Given the description of an element on the screen output the (x, y) to click on. 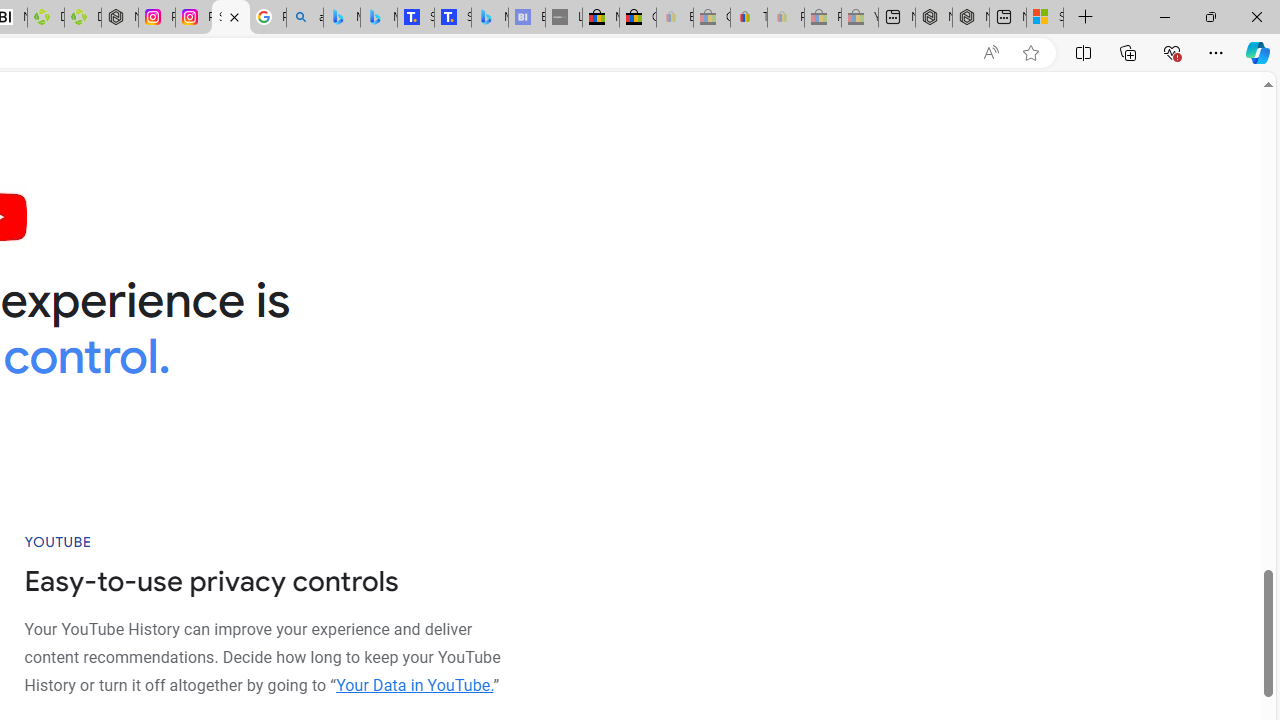
Press Room - eBay Inc. - Sleeping (822, 17)
Sign in to your Microsoft account (1044, 17)
Go to Your Data in YouTube (414, 684)
alabama high school quarterback dies - Search (304, 17)
Nordace - Summer Adventures 2024 (971, 17)
Payments Terms of Use | eBay.com - Sleeping (785, 17)
Nordace - Nordace Edin Collection (120, 17)
Shangri-La Bangkok, Hotel reviews and Room rates (453, 17)
